Given the description of an element on the screen output the (x, y) to click on. 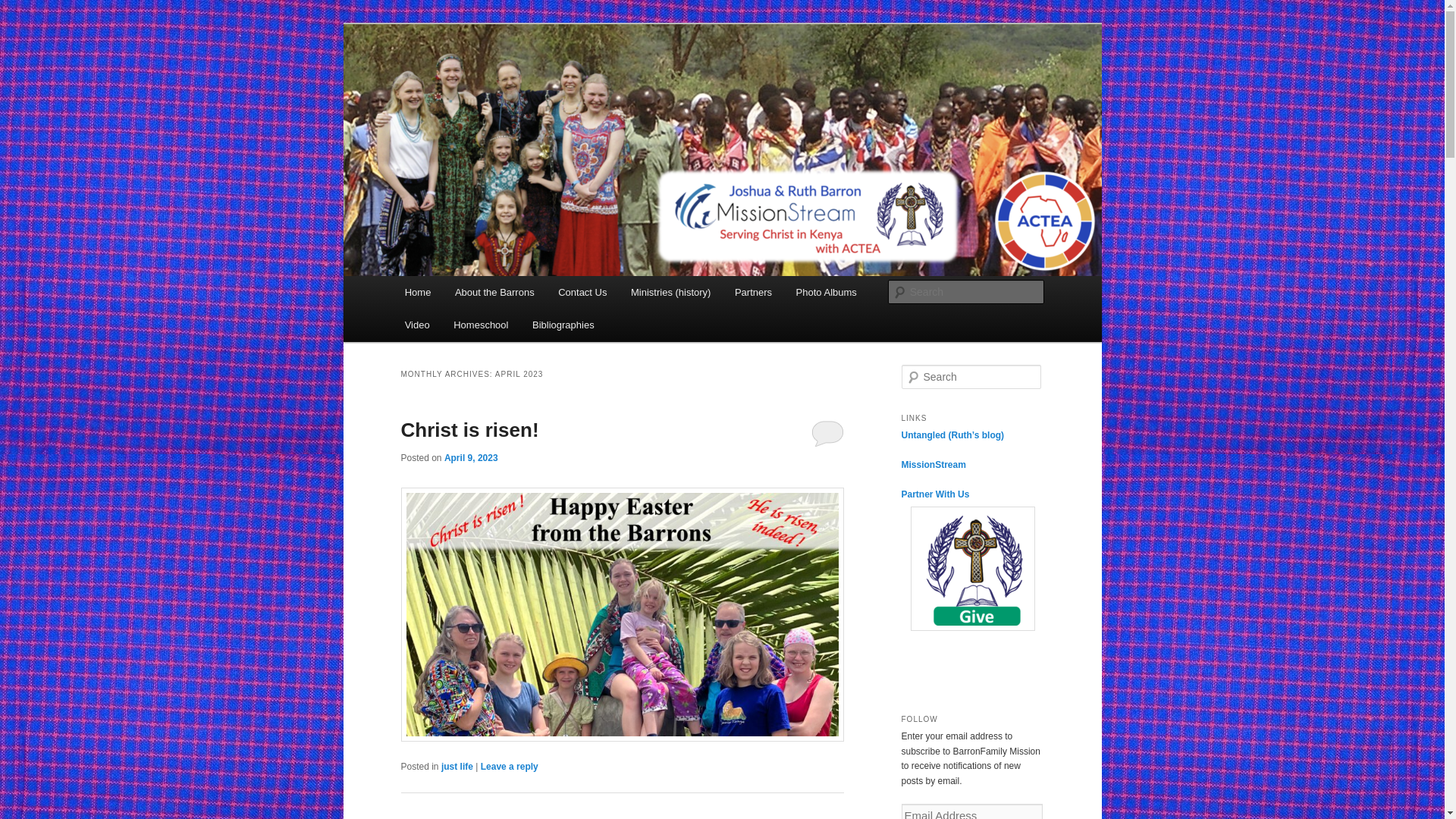
Contact Us (582, 292)
Photo Albums (826, 292)
Video (417, 324)
Home (417, 292)
Barron Family Mission (522, 78)
Partners (753, 292)
Search (24, 8)
Homeschool (480, 324)
6:32 am (470, 457)
